Given the description of an element on the screen output the (x, y) to click on. 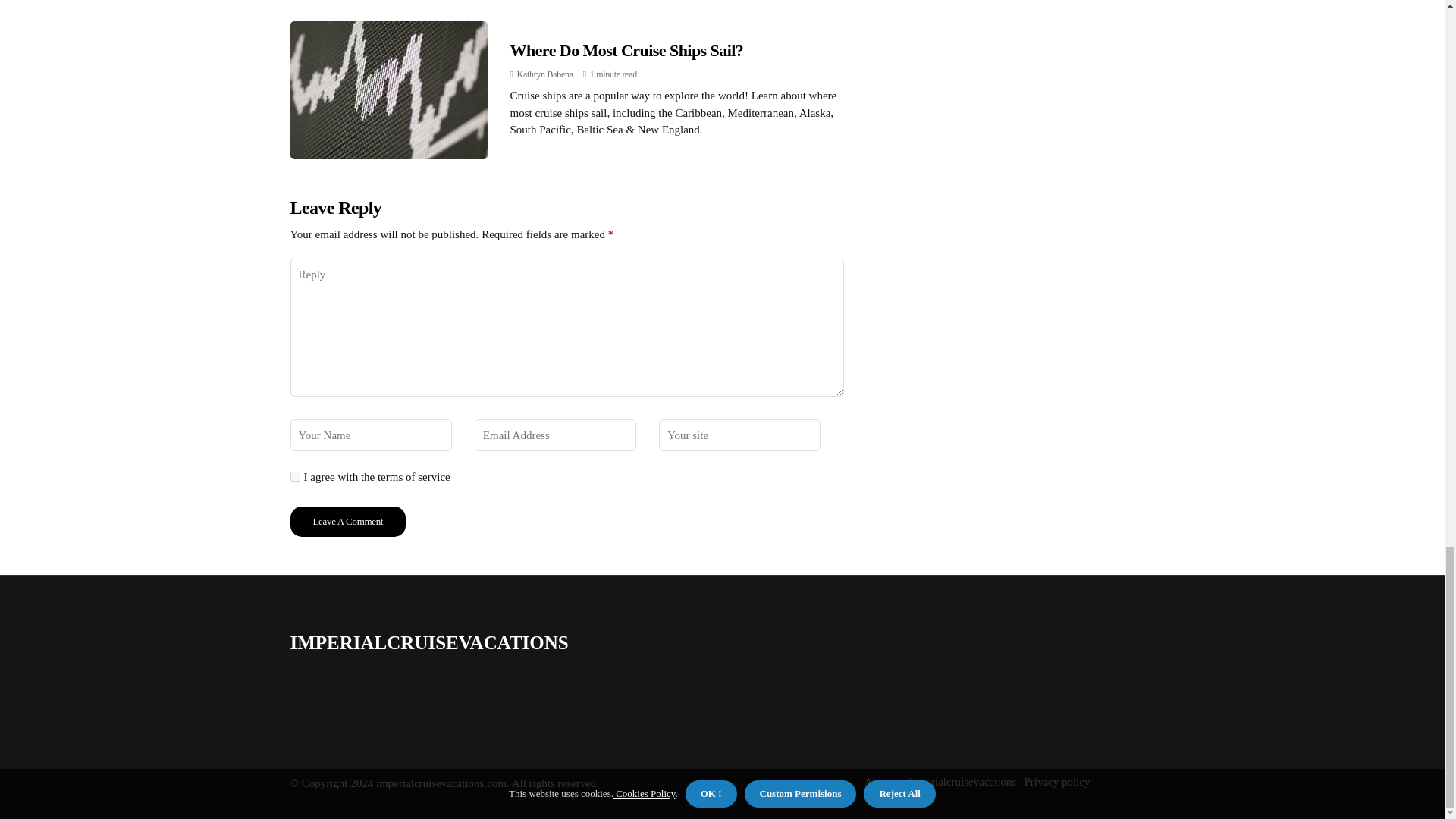
Posts by Kathryn Babena (544, 73)
Leave a Comment (347, 521)
yes (294, 476)
Where Do Most Cruise Ships Sail? (625, 49)
Kathryn Babena (544, 73)
Leave a Comment (347, 521)
